Given the description of an element on the screen output the (x, y) to click on. 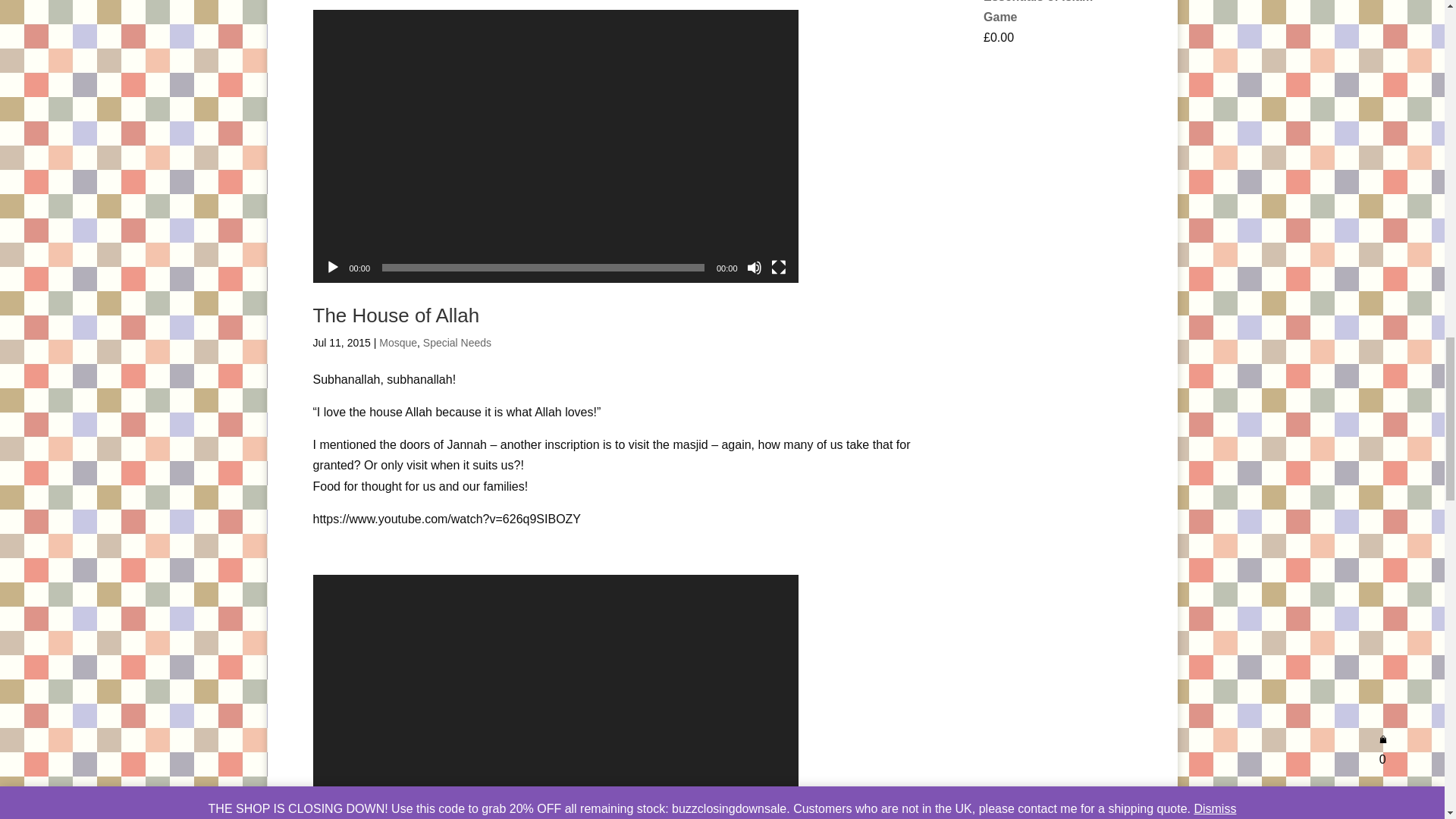
The House of Allah (396, 314)
Fullscreen (778, 267)
Mute (753, 267)
Mosque (397, 342)
Special Needs (457, 342)
Play (331, 267)
